Given the description of an element on the screen output the (x, y) to click on. 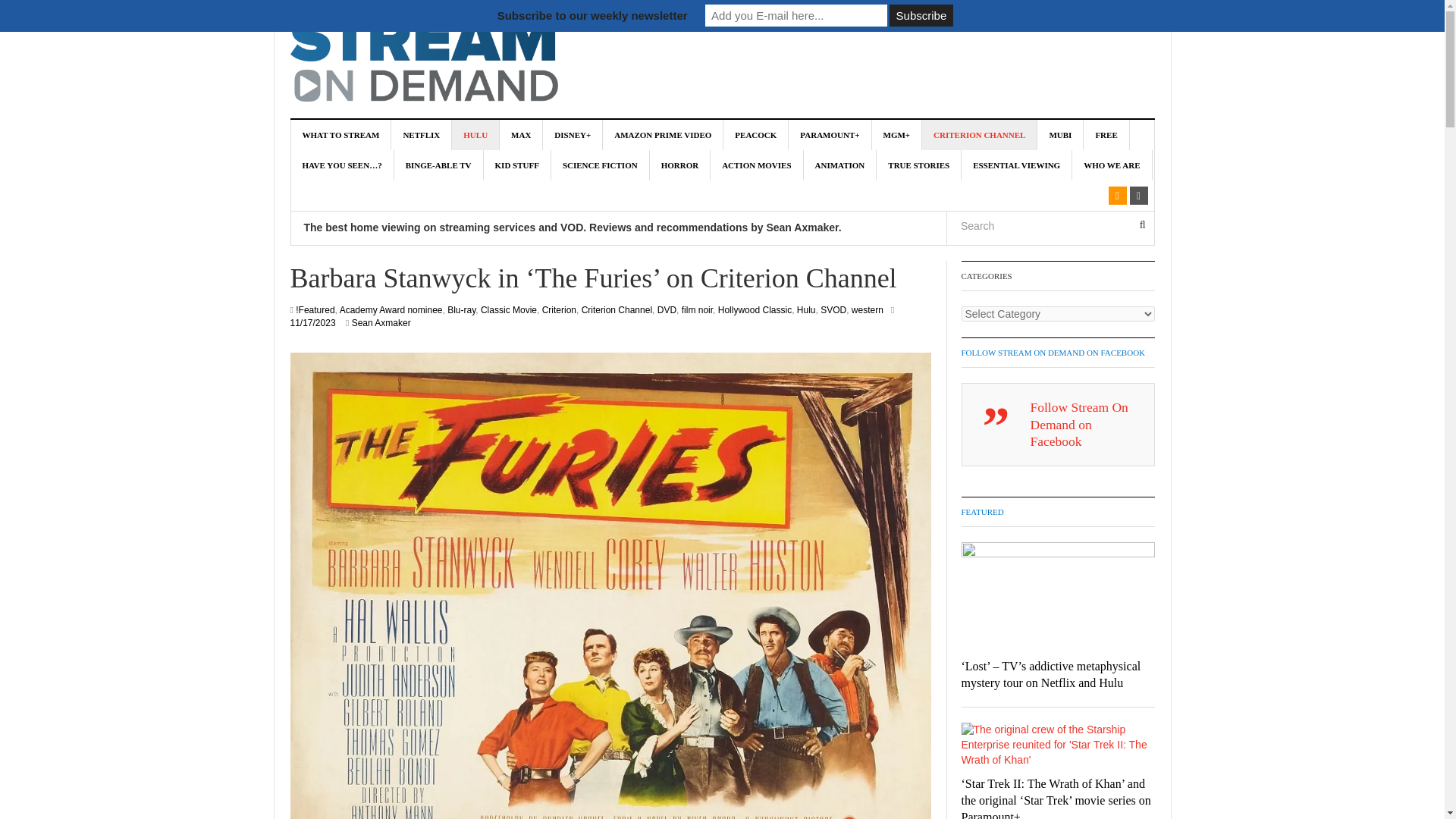
Classic Movie (508, 309)
ESSENTIAL VIEWING (1015, 164)
AMAZON PRIME VIDEO (662, 134)
Academy Award nominee (390, 309)
Subscribe (921, 15)
SCIENCE FICTION (600, 164)
HORROR (680, 164)
CRITERION CHANNEL (978, 134)
MAX (521, 134)
KID STUFF (517, 164)
Criterion Channel (616, 309)
ACTION MOVIES (756, 164)
TRUE STORIES (918, 164)
WHAT TO STREAM (341, 134)
MUBI (1059, 134)
